Given the description of an element on the screen output the (x, y) to click on. 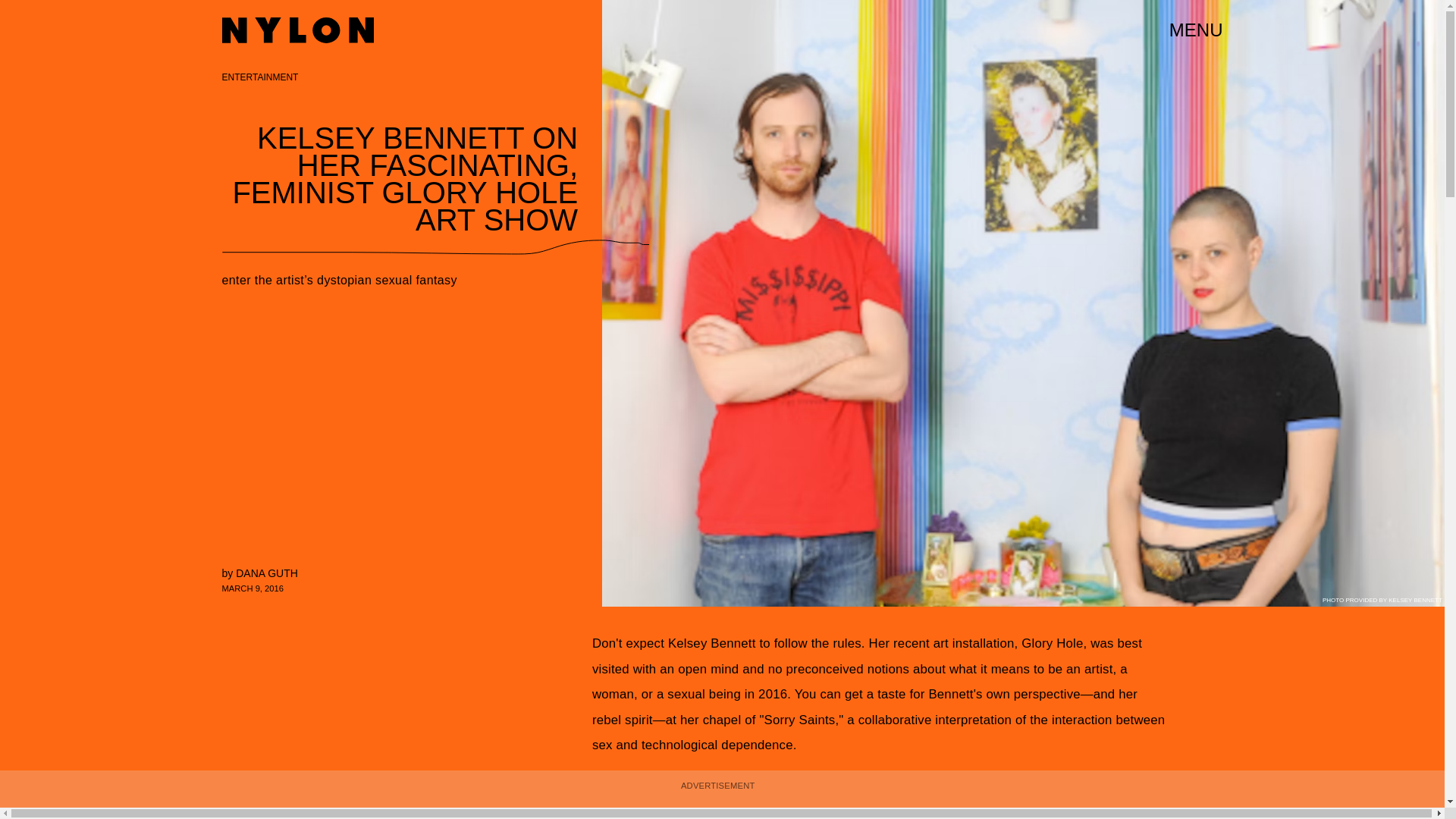
DANA GUTH (266, 573)
Nylon (296, 30)
